Given the description of an element on the screen output the (x, y) to click on. 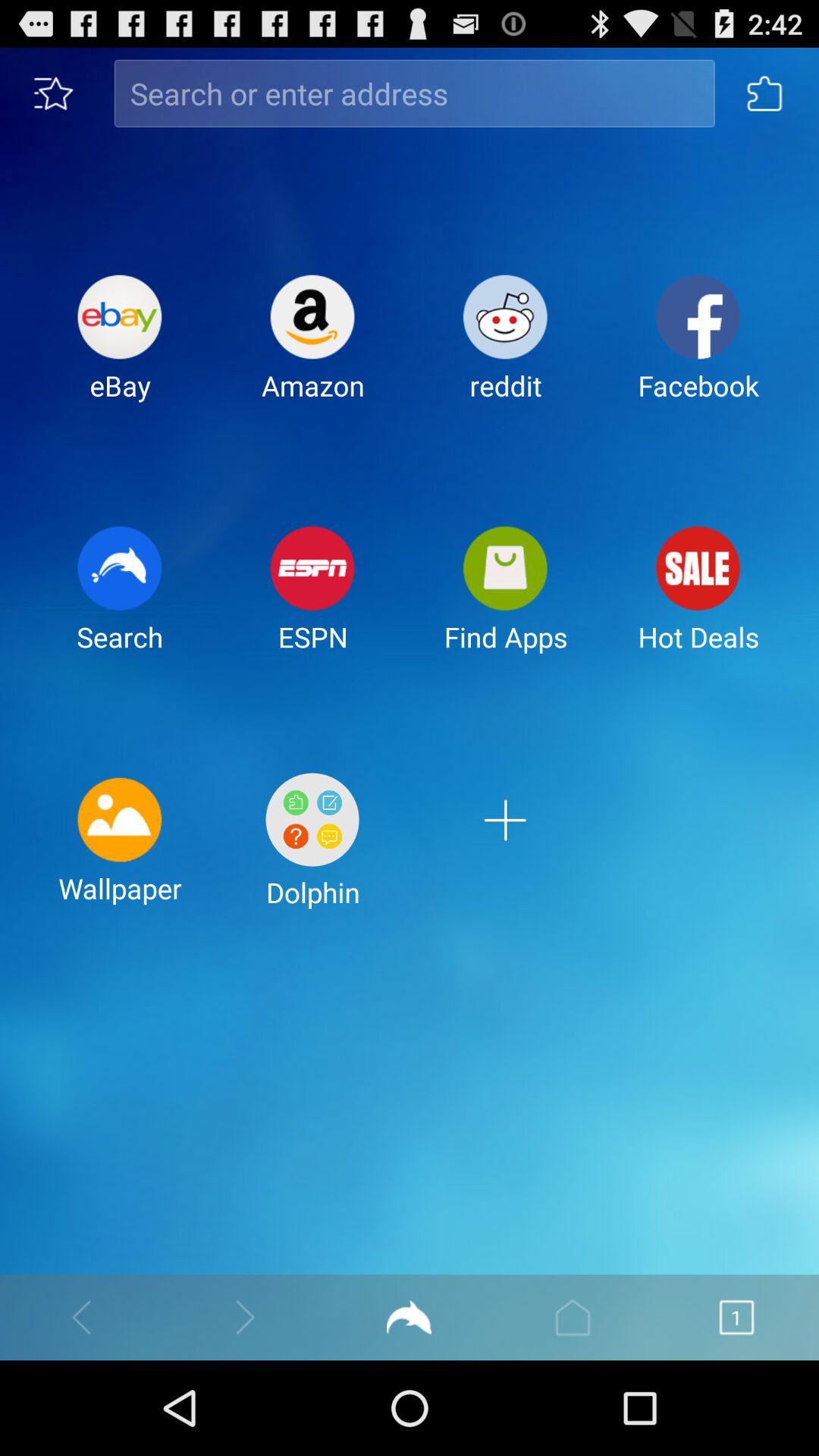
select the facebook item (698, 349)
